Given the description of an element on the screen output the (x, y) to click on. 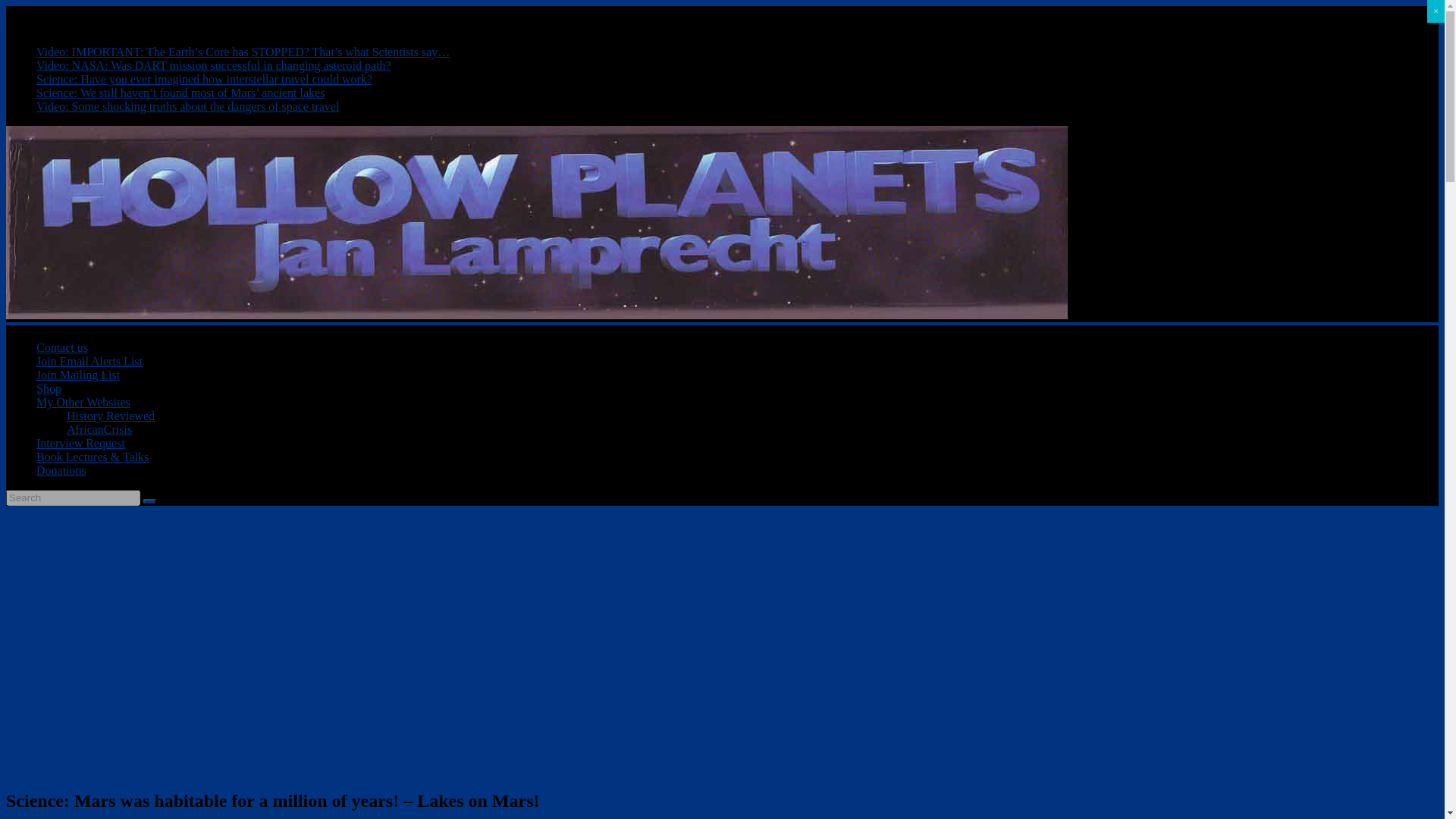
Shop (48, 388)
Join Email Alerts List (89, 360)
Join Mailing List (77, 374)
My Other Websites (83, 401)
Articles (25, 768)
History Reviewed (110, 415)
Contact us (61, 347)
Interview Request (80, 442)
AfricanCrisis (99, 429)
Donations (60, 470)
